Given the description of an element on the screen output the (x, y) to click on. 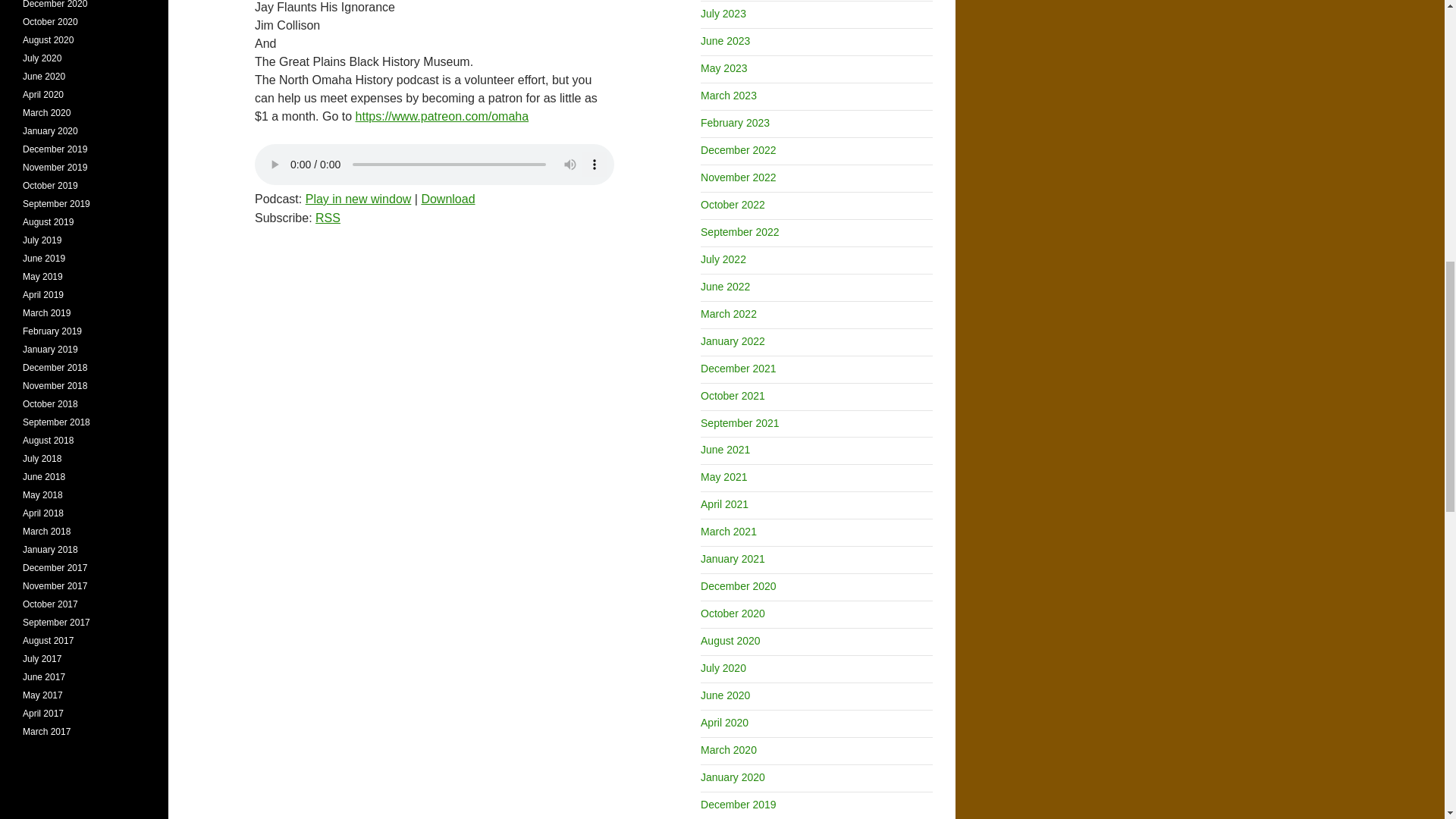
February 2023 (735, 122)
RSS (327, 217)
May 2023 (723, 68)
Download (447, 198)
Play in new window (358, 198)
March 2023 (728, 95)
Download (447, 198)
June 2023 (724, 40)
Subscribe via RSS (327, 217)
July 2023 (722, 13)
